Given the description of an element on the screen output the (x, y) to click on. 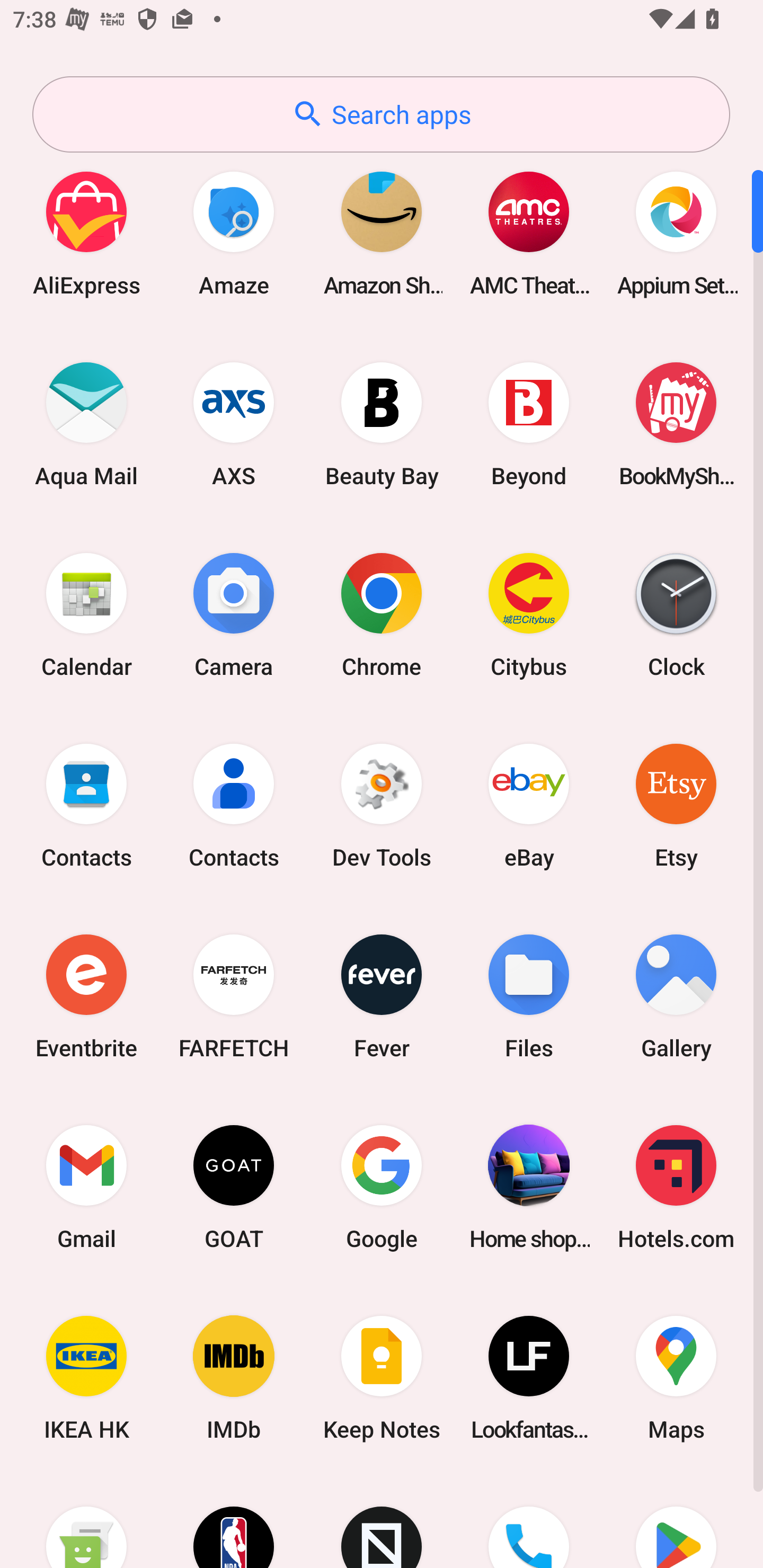
  Search apps (381, 114)
AliExpress (86, 233)
Amaze (233, 233)
Amazon Shopping (381, 233)
AMC Theatres (528, 233)
Appium Settings (676, 233)
Aqua Mail (86, 424)
AXS (233, 424)
Beauty Bay (381, 424)
Beyond (528, 424)
BookMyShow (676, 424)
Calendar (86, 614)
Camera (233, 614)
Chrome (381, 614)
Citybus (528, 614)
Clock (676, 614)
Contacts (86, 805)
Contacts (233, 805)
Dev Tools (381, 805)
eBay (528, 805)
Etsy (676, 805)
Eventbrite (86, 996)
FARFETCH (233, 996)
Fever (381, 996)
Files (528, 996)
Gallery (676, 996)
Gmail (86, 1186)
GOAT (233, 1186)
Google (381, 1186)
Home shopping (528, 1186)
Hotels.com (676, 1186)
IKEA HK (86, 1377)
IMDb (233, 1377)
Keep Notes (381, 1377)
Lookfantastic (528, 1377)
Maps (676, 1377)
Messaging (86, 1520)
NBA (233, 1520)
Novelship (381, 1520)
Phone (528, 1520)
Play Store (676, 1520)
